Given the description of an element on the screen output the (x, y) to click on. 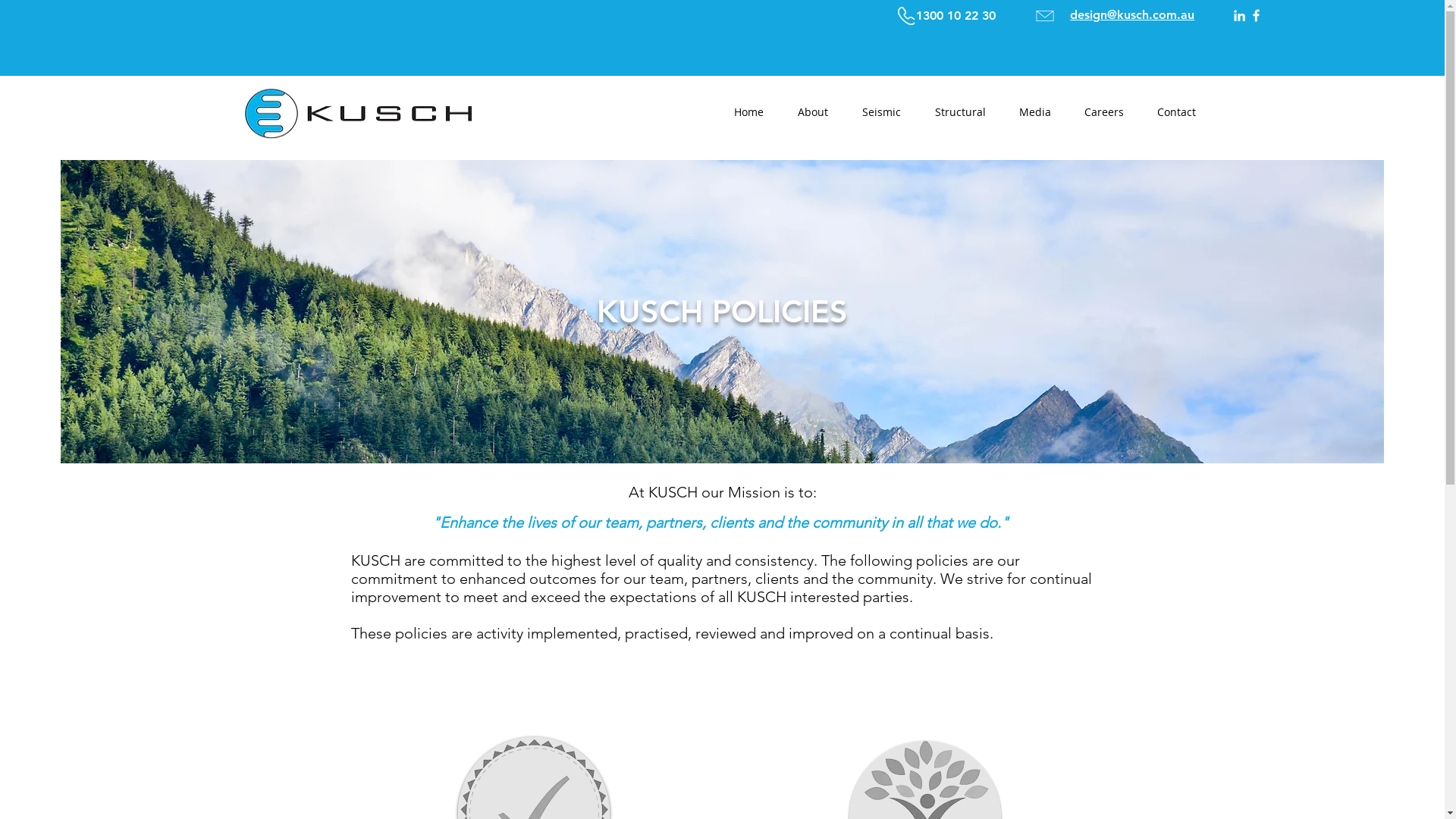
Contact Element type: text (1176, 112)
1300 10 22 30 Element type: text (955, 15)
Seismic Element type: text (880, 112)
Careers Element type: text (1103, 112)
Structural Element type: text (959, 112)
Home Element type: text (748, 112)
About Element type: text (812, 112)
design@kusch.com.au Element type: text (1132, 14)
Media Element type: text (1034, 112)
